Given the description of an element on the screen output the (x, y) to click on. 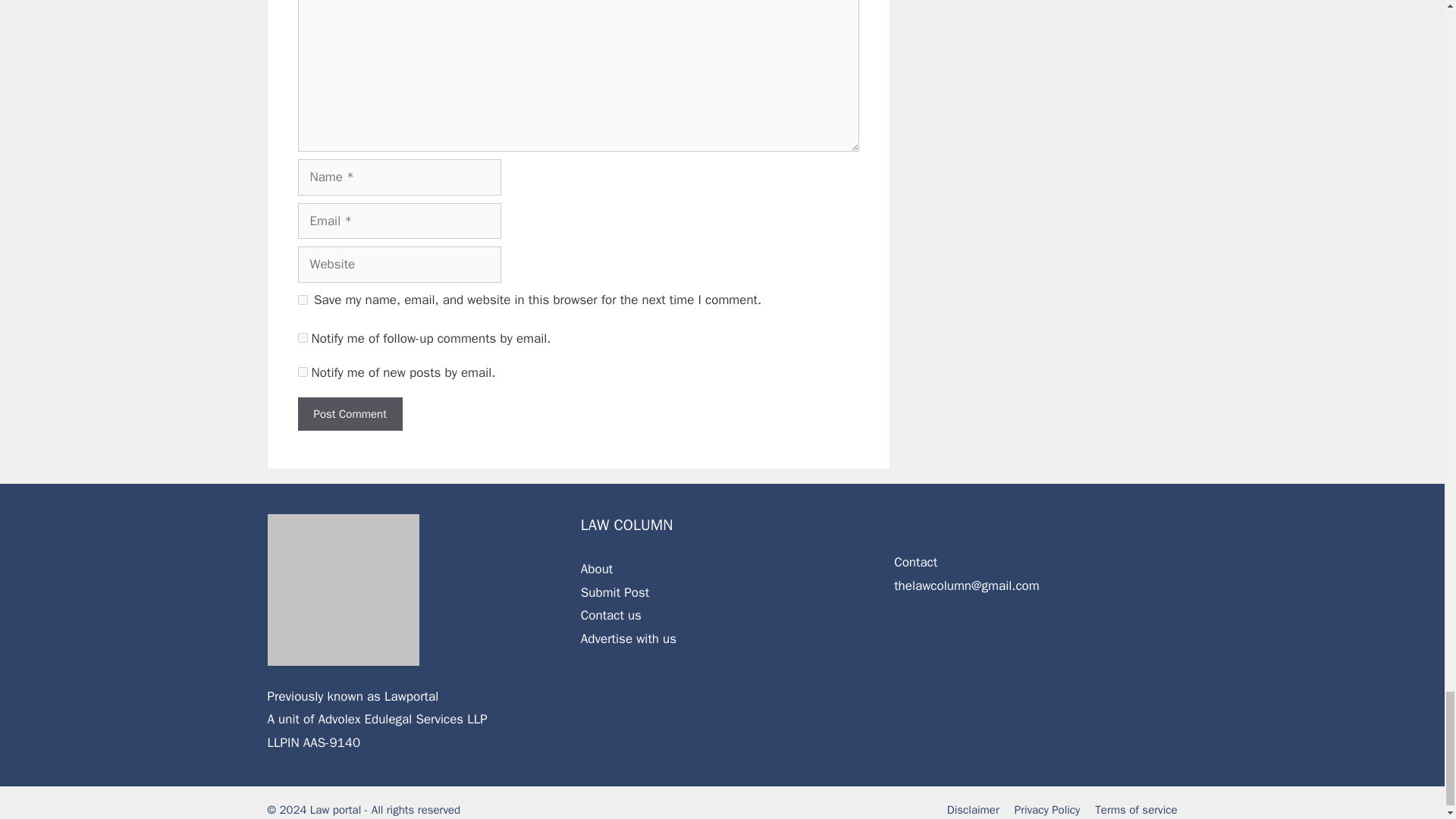
subscribe (302, 337)
yes (302, 299)
Post Comment (349, 414)
subscribe (302, 371)
